Given the description of an element on the screen output the (x, y) to click on. 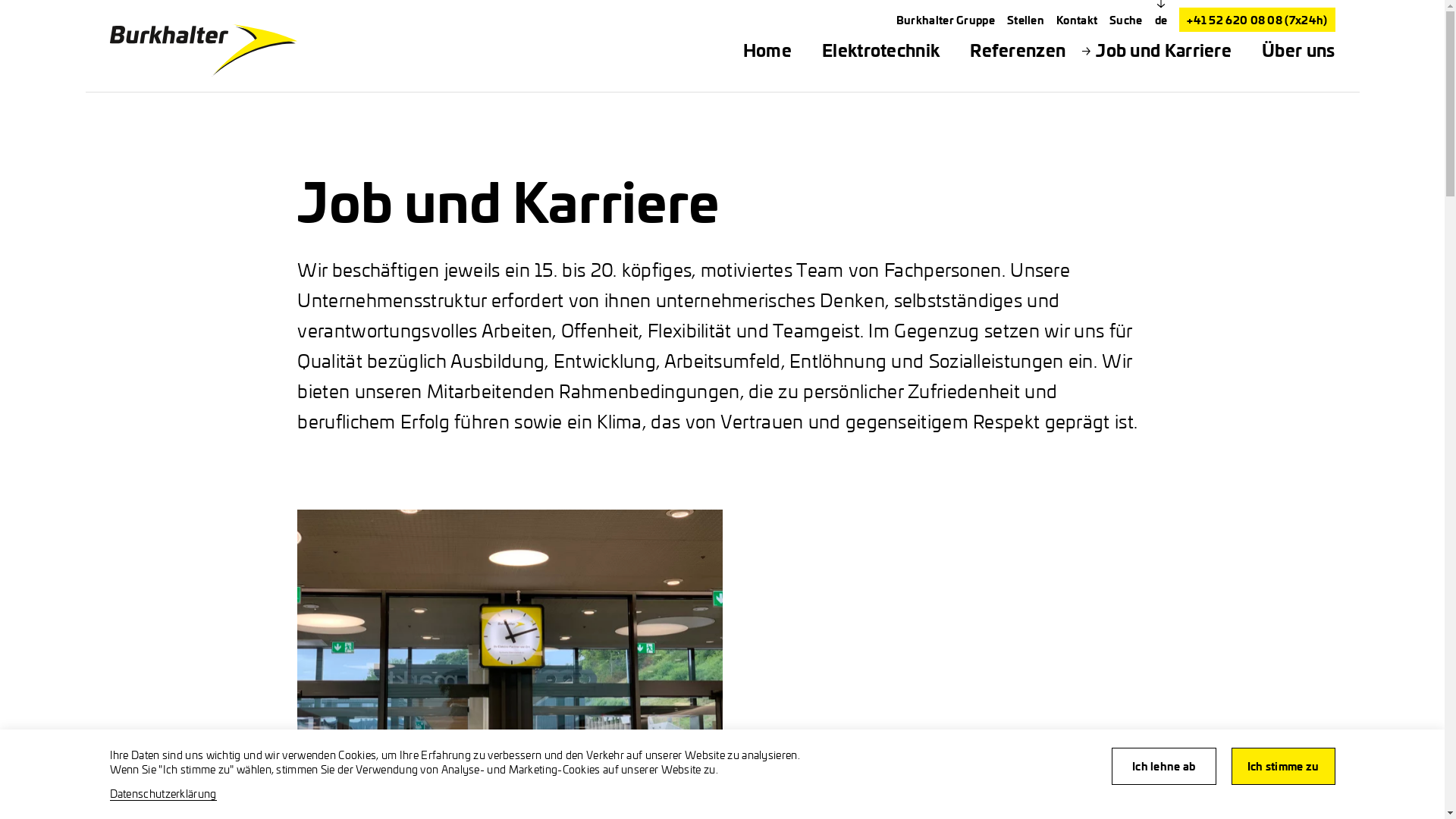
+41 52 620 08 08 (7x24h) Element type: text (1256, 19)
Job und Karriere Element type: text (1163, 49)
de Element type: text (1160, 20)
Ich stimme zu Element type: text (1283, 765)
Kontakt Element type: text (1076, 20)
Stellen Element type: text (1025, 20)
Elektrotechnik Element type: text (880, 49)
Suche Element type: text (1125, 20)
Home Element type: text (767, 49)
Referenzen Element type: text (1017, 49)
Burkhalter Gruppe Element type: text (945, 20)
Ich lehne ab Element type: text (1163, 765)
